Given the description of an element on the screen output the (x, y) to click on. 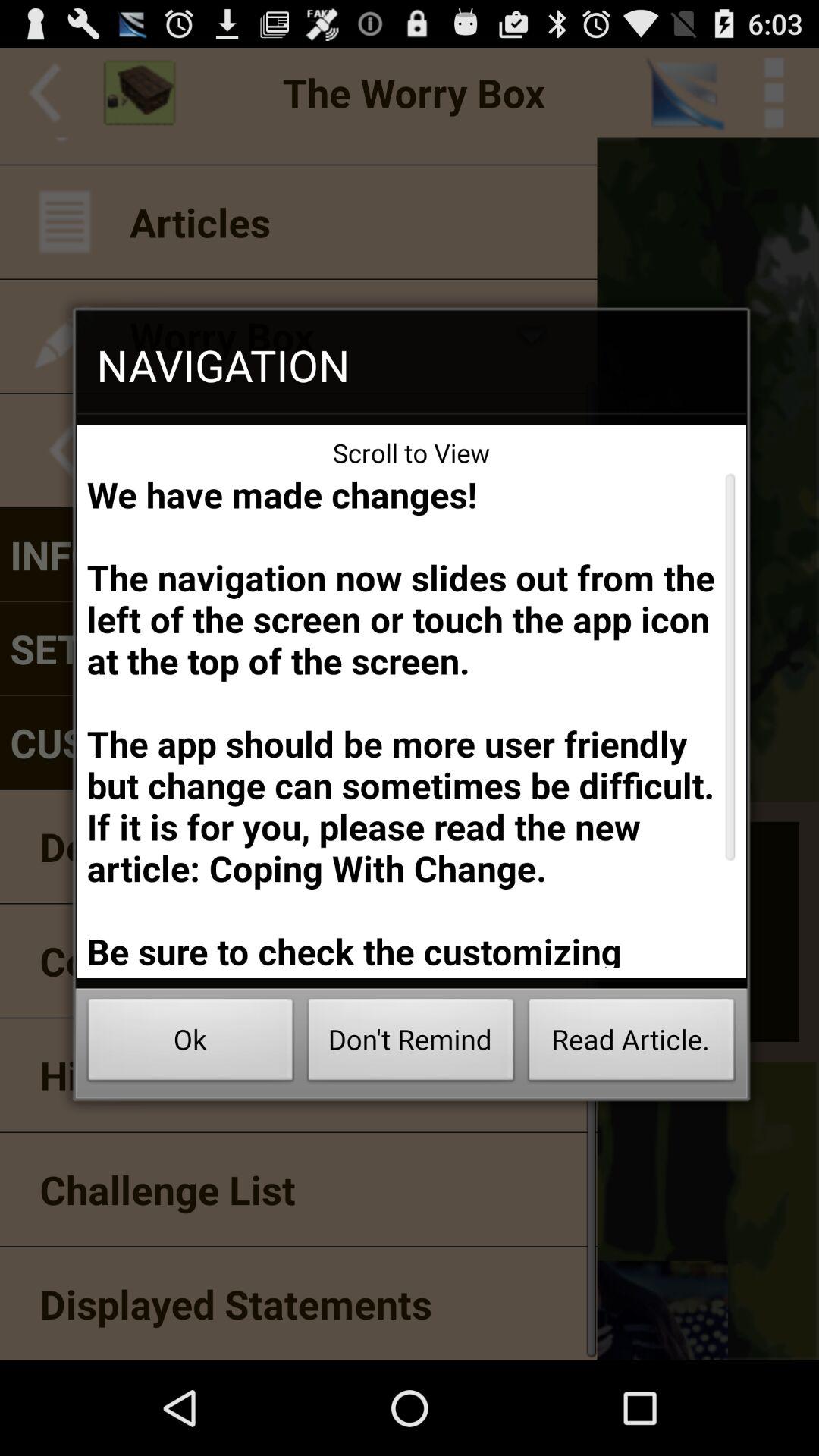
turn on the item next to the ok (410, 1044)
